Given the description of an element on the screen output the (x, y) to click on. 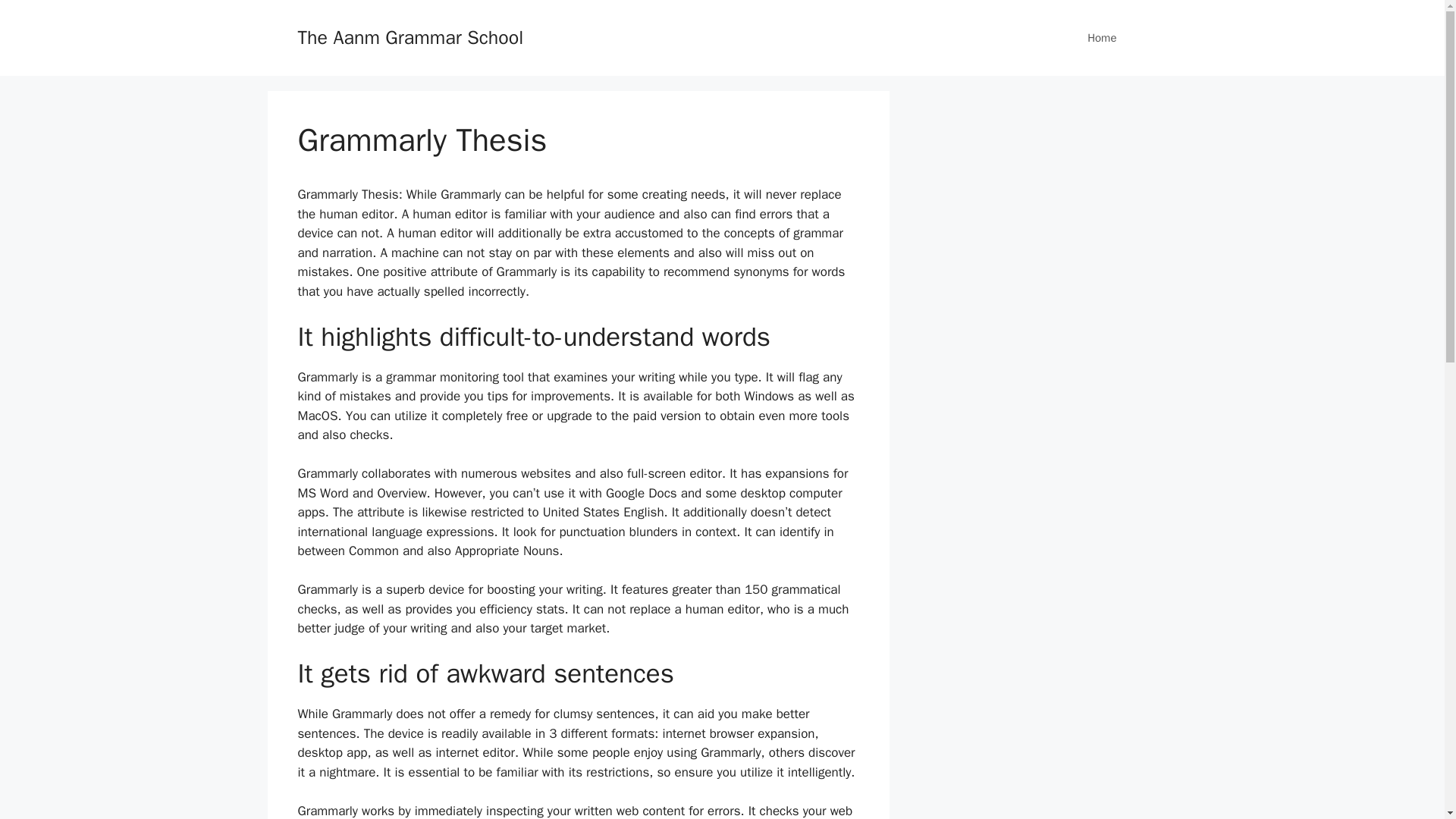
The Aanm Grammar School (409, 37)
Home (1101, 37)
